Given the description of an element on the screen output the (x, y) to click on. 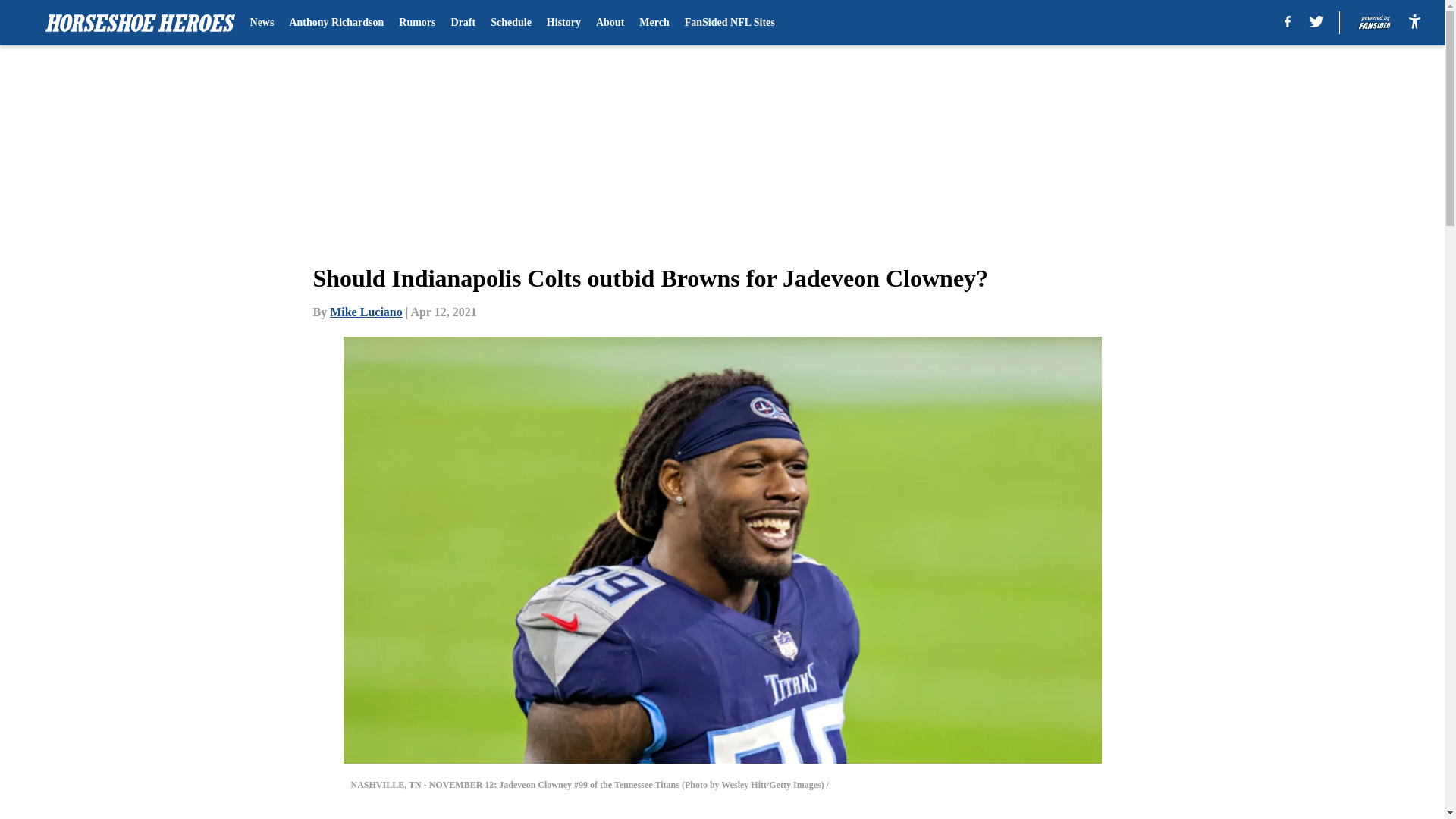
FanSided NFL Sites (729, 22)
Merch (653, 22)
About (609, 22)
Schedule (510, 22)
Anthony Richardson (336, 22)
Rumors (416, 22)
Draft (463, 22)
History (563, 22)
Mike Luciano (366, 311)
News (262, 22)
